Given the description of an element on the screen output the (x, y) to click on. 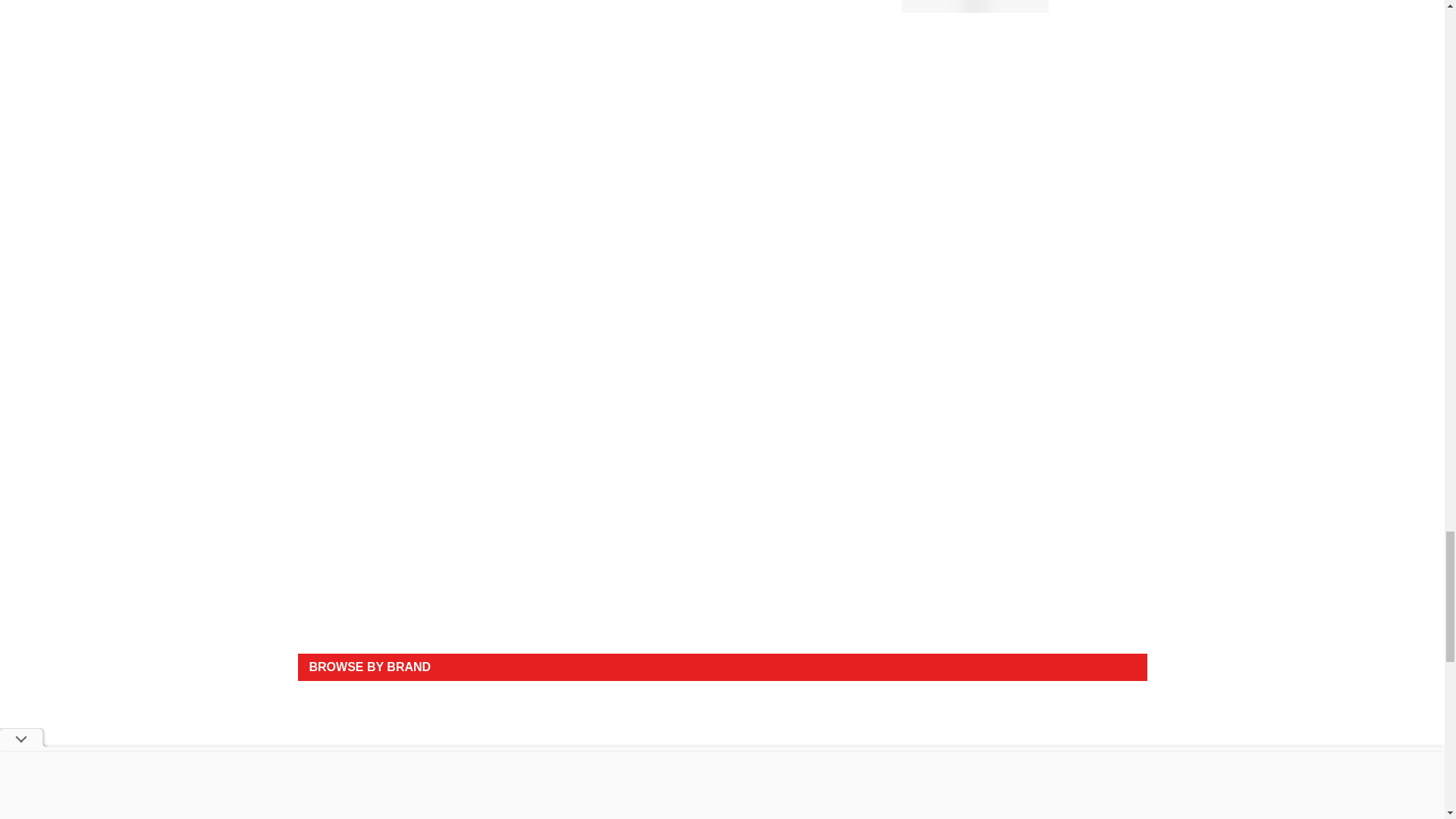
3rd party ad content (722, 604)
